Given the description of an element on the screen output the (x, y) to click on. 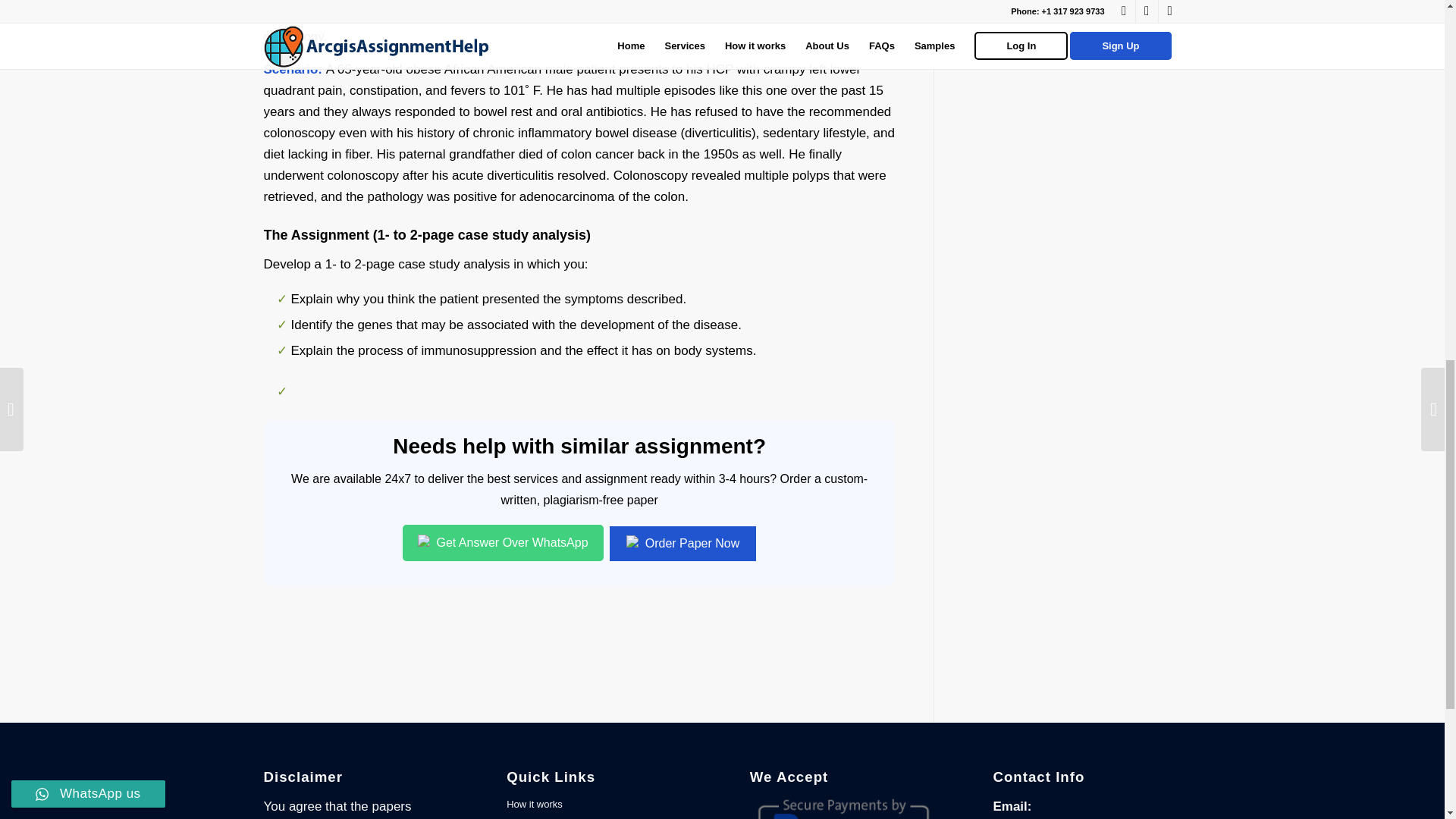
Order Custom Paper Now (1076, 4)
Order Paper Now (682, 543)
Get Answer Over WhatsApp (503, 542)
How it works (600, 805)
